Given the description of an element on the screen output the (x, y) to click on. 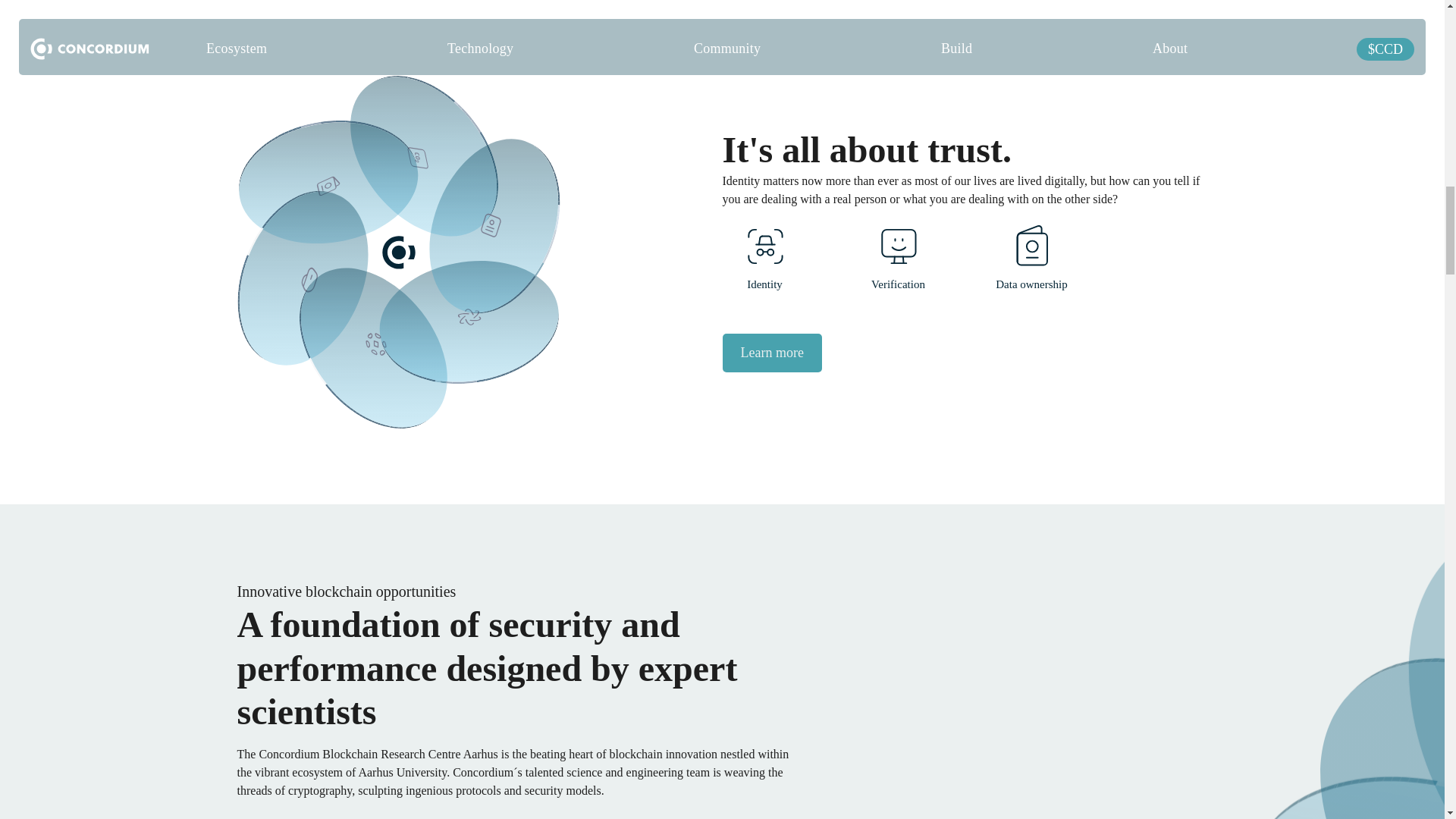
Learn more (771, 353)
